Given the description of an element on the screen output the (x, y) to click on. 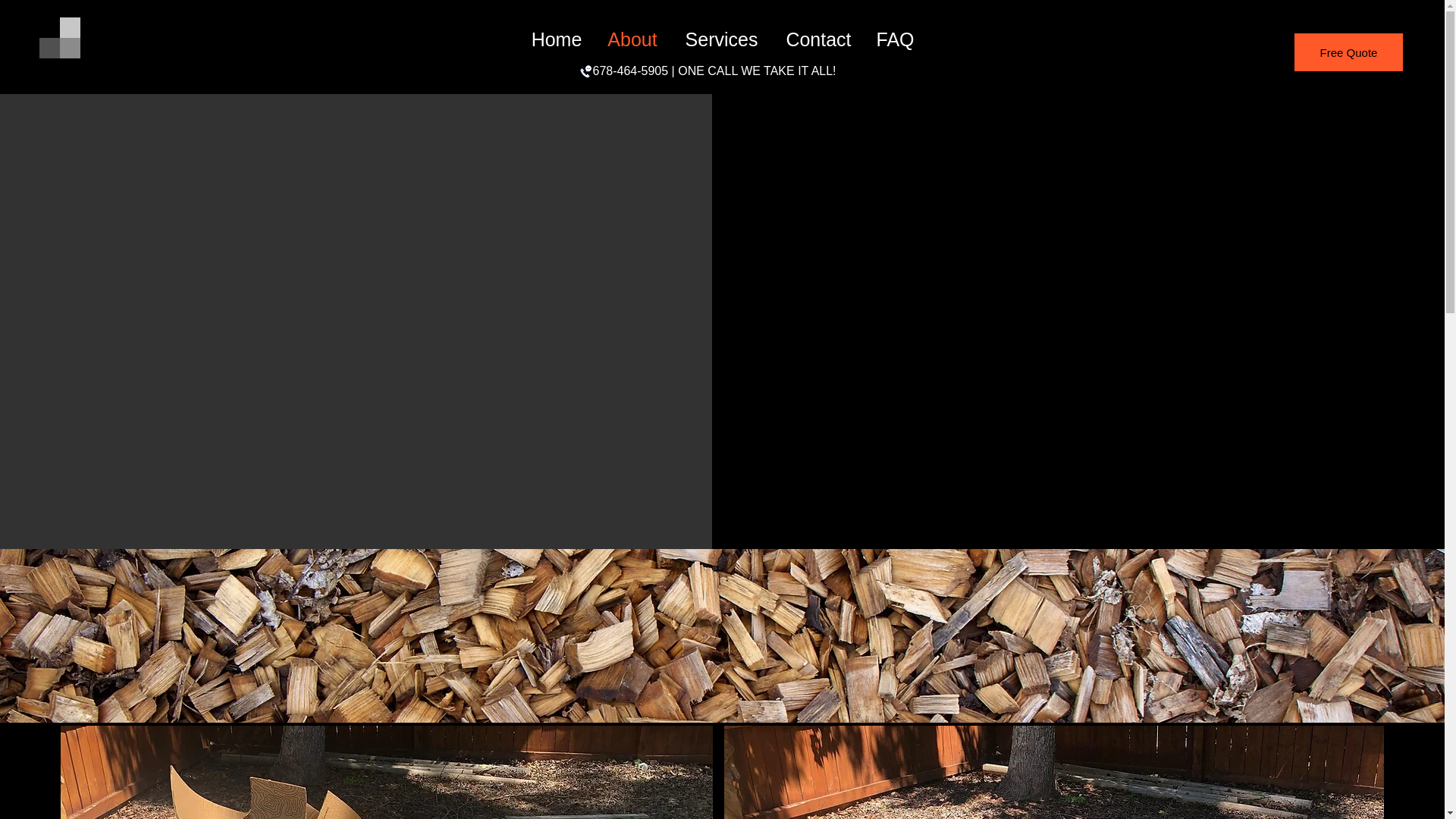
Home (556, 39)
Contact (817, 39)
Free Quote (1348, 52)
FAQ (894, 39)
Services (720, 39)
About (632, 39)
